Given the description of an element on the screen output the (x, y) to click on. 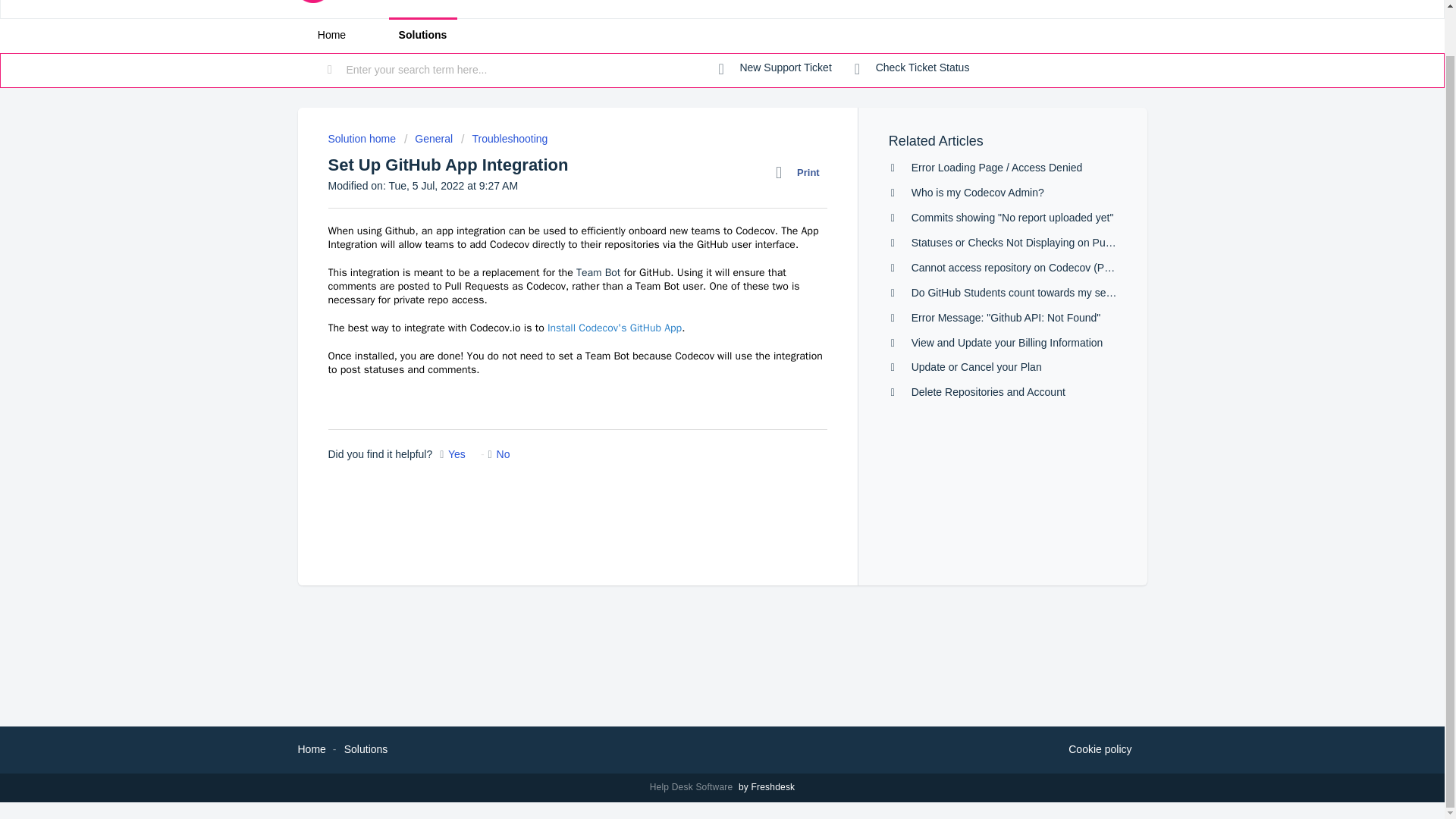
Troubleshooting (504, 138)
Solutions (365, 748)
Team Bot (598, 272)
Cookie policy (1099, 750)
Print this Article (801, 172)
New Support Ticket (775, 68)
Commits showing "No report uploaded yet" (1012, 217)
Solution home (362, 138)
Help Desk Software (693, 787)
Check ticket status (911, 68)
New support ticket (775, 68)
Home (331, 35)
Print (801, 172)
Home (310, 748)
Update or Cancel your Plan (976, 367)
